Given the description of an element on the screen output the (x, y) to click on. 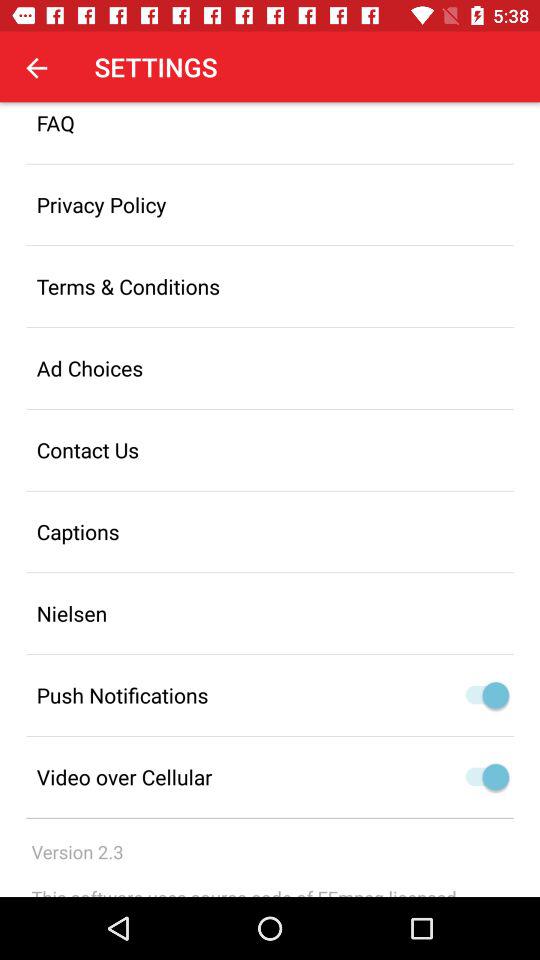
swipe to the version 2.3 icon (77, 851)
